Given the description of an element on the screen output the (x, y) to click on. 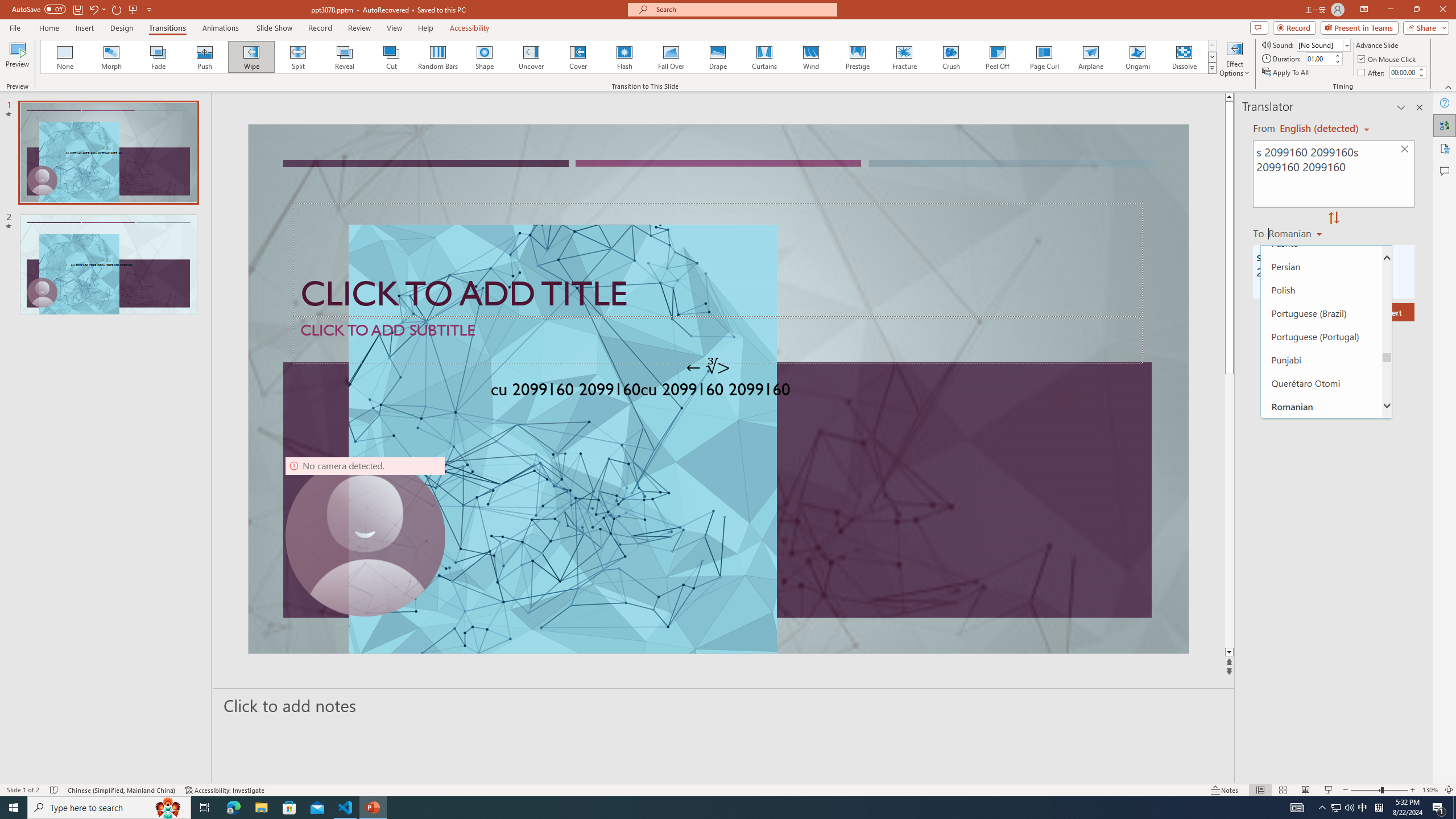
Samoan (1320, 475)
Push (205, 56)
An abstract genetic concept (718, 388)
Duration (1319, 58)
Zoom 130% (1430, 790)
Drape (717, 56)
